Given the description of an element on the screen output the (x, y) to click on. 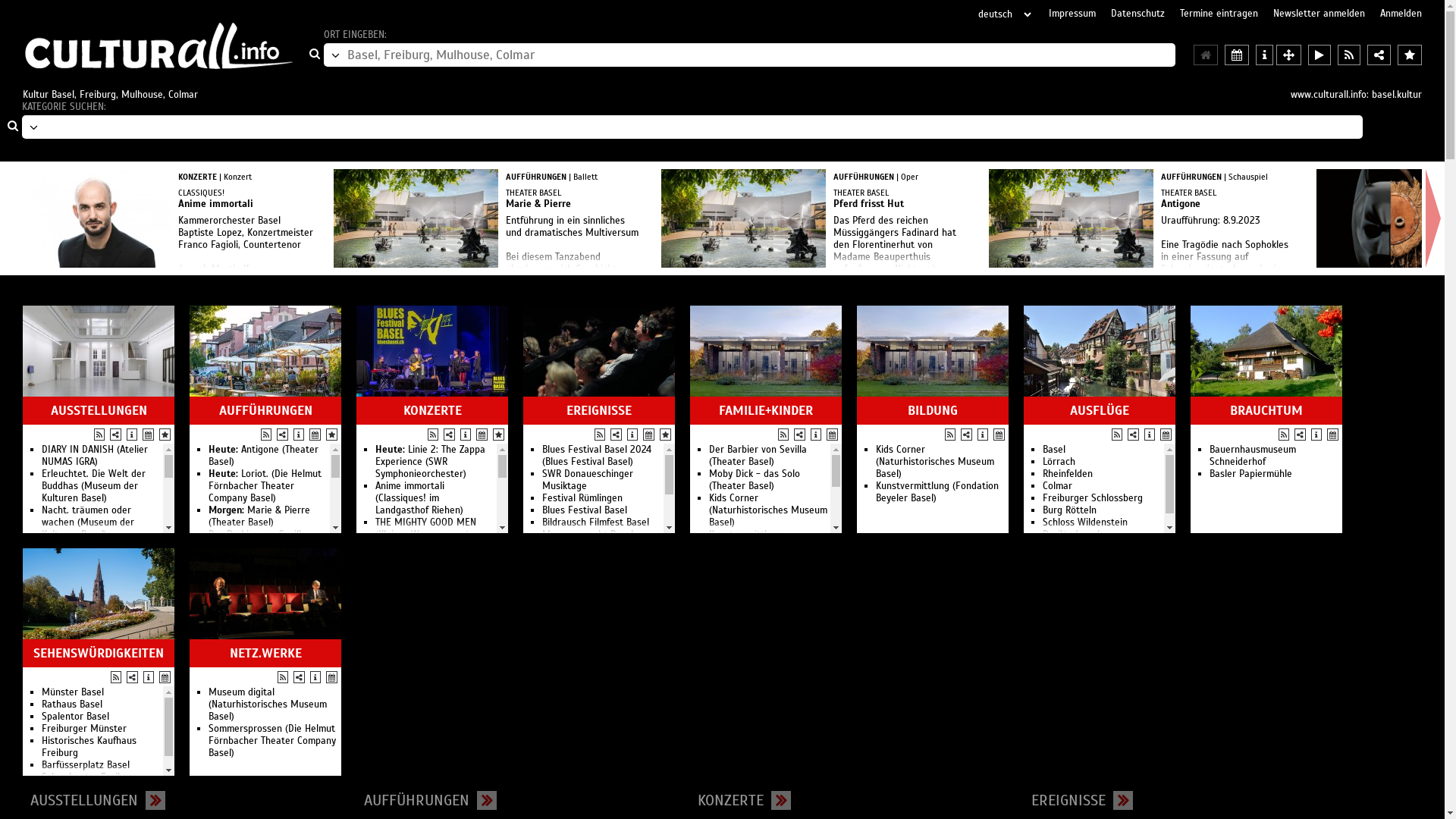
Donauhallen Element type: text (568, 583)
Bewertungen Element type: hover (665, 434)
Tourismusinformationen Element type: hover (298, 434)
Gare du Nord Basel Element type: text (249, 692)
RSS-Feed Element type: hover (1283, 434)
Bauernhausmuseum Schneiderhof Element type: text (1252, 455)
Blues Festival Basel 2024 (Blues Festival Basel) Element type: text (596, 455)
Teilen Element type: hover (1133, 434)
Teilen Element type: hover (1299, 434)
Anime immortali (Classiques! im Landgasthof Riehen) Element type: text (419, 498)
Teilen Element type: hover (115, 434)
Terminsuche Element type: hover (998, 434)
Schloss Wildenstein Element type: text (1084, 522)
Historisches Kaufhaus Freiburg Element type: text (88, 746)
Spielzeug Welten Museum Basel Element type: text (765, 601)
Terminsuche Element type: hover (1165, 434)
FAMILIE+KINDER Element type: text (765, 410)
Casino-Gesellschaft Basel Element type: text (263, 728)
Heute: Antigone (Theater Basel) Element type: text (263, 455)
Newsletter anmelden Element type: text (1319, 14)
Tourismusinformationen Element type: hover (148, 677)
Terminsuche Element type: hover (1332, 434)
RSS-Feed Element type: hover (265, 434)
Kunstvermittlung (Fondation Beyeler Basel) Element type: text (936, 492)
Ammonit & Donnerkeil (Naturhistorisches Museum Basel) Element type: text (100, 728)
Kaserne Basel Element type: text (238, 704)
AUSSTELLUNGEN Element type: text (98, 410)
Terminsuche Element type: hover (648, 434)
Datenschutz Element type: text (1137, 14)
Theater L.U.S.T. Element type: text (240, 716)
Tourismusinformationen Element type: hover (1149, 434)
EREIGNISSE Element type: text (1068, 799)
Der Barbier von Sevilla (Theater Basel) Element type: text (257, 540)
EREIGNISSE Element type: text (599, 410)
Museum digital (Naturhistorisches Museum Basel) Element type: text (267, 704)
Tourismusinformationen Element type: hover (465, 434)
RSS-Feed Element type: hover (282, 677)
Tourismusinformationen Element type: hover (315, 677)
Rathaus Basel Element type: text (71, 704)
Region Basel, Freiburg, Mulhouse, Colmar teilen Element type: hover (1378, 54)
THE MIGHTY GOOD MEN (Kleiner Wassermann) Element type: text (425, 528)
RSS-Feed Element type: hover (99, 434)
Terminsuche Element type: hover (147, 434)
Bewertungen Element type: hover (331, 434)
Der Barbier von Sevilla (Theater Basel) Element type: text (757, 455)
Tourismusinformationen Element type: hover (982, 434)
Schwabentor Freiburg Element type: text (89, 777)
RSS-Feed Element type: hover (783, 434)
Terminsuche Element type: hover (831, 434)
RSS-Feed Element type: hover (115, 677)
Termine eintragen Element type: text (1218, 14)
Tourismusinformationen Element type: hover (815, 434)
Terminsuche Element type: hover (481, 434)
Kids Corner (Naturhistorisches Museum Basel) Element type: text (768, 510)
Bewertungen Element type: hover (164, 434)
Tinguwly-Brunnen Basel Element type: text (760, 558)
Moby Dick - das Solo (Theater Basel) Element type: text (754, 479)
Rigoletto (Theater Basel) Element type: text (261, 558)
Kunstvermittlung (Fondation Beyeler Basel) Element type: text (764, 540)
RSS-Feed Element type: hover (1116, 434)
BILDUNG Element type: text (932, 410)
www.culturall.info: basel.kultur Element type: text (1355, 94)
Teilen Element type: hover (966, 434)
Spalentor Basel Element type: text (75, 716)
Tourismusinformationen Element type: hover (131, 434)
Erleuchtet. Die Welt der Buddhas (Museum der Kulturen Basel) Element type: text (93, 485)
SWR Donaueschinger Musiktage Element type: text (587, 479)
Theater Basel Element type: text (237, 655)
Tourismusinformationen Element type: hover (632, 434)
KONZERTE Element type: text (730, 799)
NETZ.WERKE Element type: text (265, 652)
Zoo Basel Element type: text (729, 583)
Teilen Element type: hover (298, 677)
Terminsuche Element type: hover (164, 677)
Teilen Element type: hover (799, 434)
Teilen Element type: hover (132, 677)
RSS-Feed Element type: hover (432, 434)
AUSSTELLUNGEN Element type: text (84, 799)
Morgen: Marie & Pierre (Theater Basel) Element type: text (259, 516)
Teilen Element type: hover (449, 434)
RSS-Feed Element type: hover (949, 434)
RSS-Feed Element type: hover (599, 434)
Dino & Saurier (Naturhistorisches Museum Basel) Element type: text (100, 764)
Europa-Park Element type: text (735, 619)
DIARY IN DANISH (Atelier NUMAS IGRA) Element type: text (94, 455)
Videos in Basel, Freiburg, Mulhouse, Colmar Element type: hover (1319, 54)
Kids Corner (Naturhistorisches Museum Basel) Element type: text (934, 461)
Cartoonmuseum Basel Element type: text (756, 570)
Bewertungen Element type: hover (498, 434)
Moby Dick - das Solo (Theater Basel) Element type: text (253, 601)
Anmelden Element type: text (1400, 14)
Rheinfelden Element type: text (1067, 473)
Teilen Element type: hover (282, 434)
BRAUCHTUM Element type: text (1266, 410)
Basler Fasnacht (Museum der Kulturen Basel) Element type: text (96, 552)
KONZERTE Element type: text (432, 410)
Pferd frisst Hut (Theater Basel) Element type: text (260, 576)
Tourismusinformationen Element type: hover (1316, 434)
Gesellschaft der Musikfreunde Donaueschingen Element type: text (243, 752)
Museumsnacht Basel Element type: text (587, 534)
Colmar Element type: text (1057, 486)
Terminsuche Element type: hover (331, 677)
Impressum Element type: text (1071, 14)
Blues Festival Basel Element type: text (584, 510)
Teilen Element type: hover (615, 434)
Terminsuche in Basel, Freiburg, Mulhouse, Colmar Element type: hover (1236, 54)
the bird`s eye jazz club Basel Element type: text (591, 552)
Terminsuche Element type: hover (314, 434)
Dvorak 4 - StradivariFEST Basel / Au (StradivariQuartett) Element type: text (430, 728)
Basel Element type: text (1053, 449)
Freiburger Schlossberg Element type: text (1092, 498)
Bildrausch Filmfest Basel Element type: text (595, 522)
zur Startseite Element type: hover (158, 45)
